Given the description of an element on the screen output the (x, y) to click on. 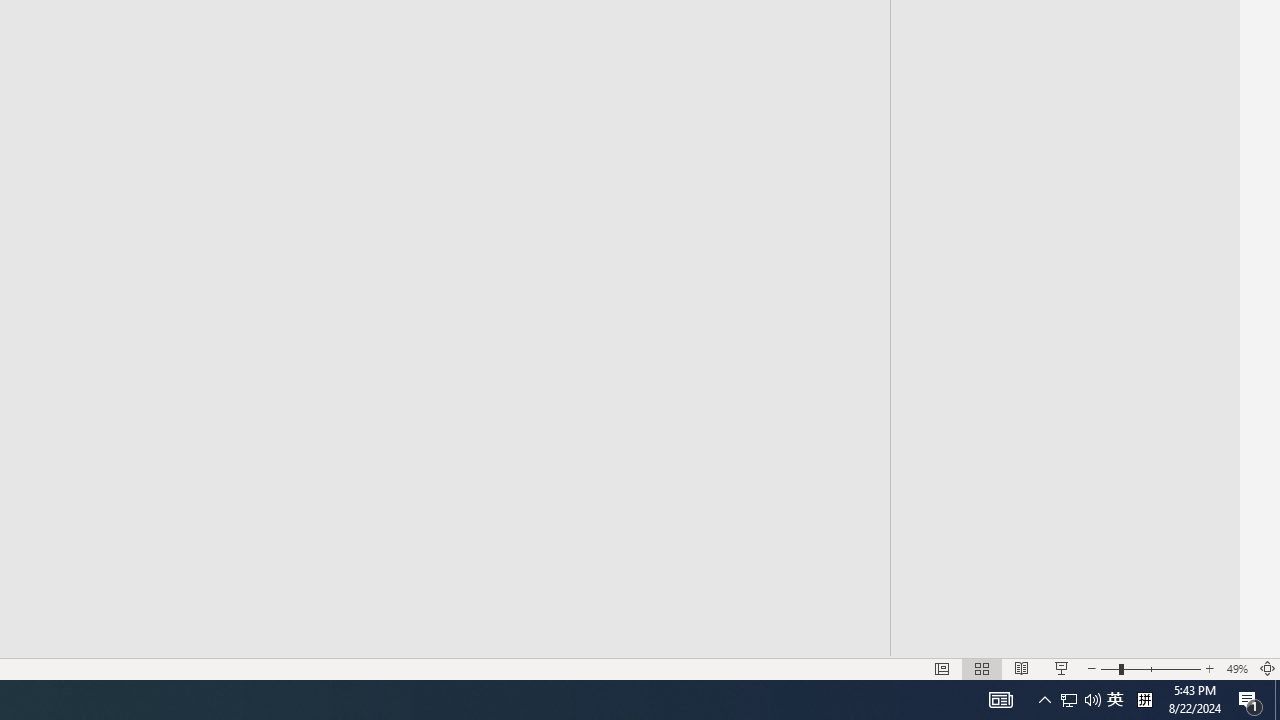
Notification Chevron (1115, 699)
Tray Input Indicator - Chinese (Simplified, China) (1044, 699)
Show desktop (1144, 699)
Zoom 49% (1277, 699)
User Promoted Notification Area (1069, 699)
